Given the description of an element on the screen output the (x, y) to click on. 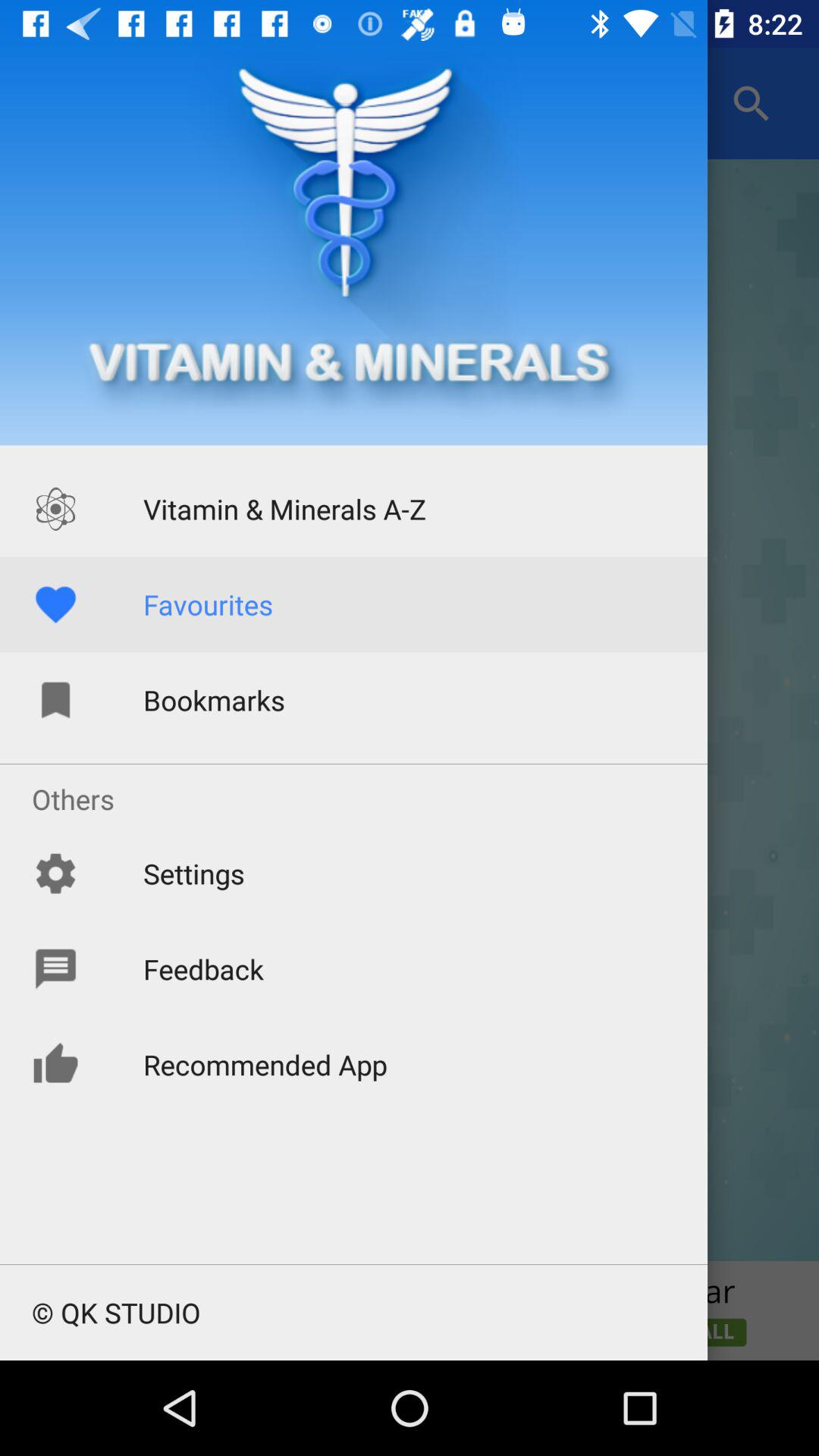
click on icon left to bookmarks (55, 700)
